Given the description of an element on the screen output the (x, y) to click on. 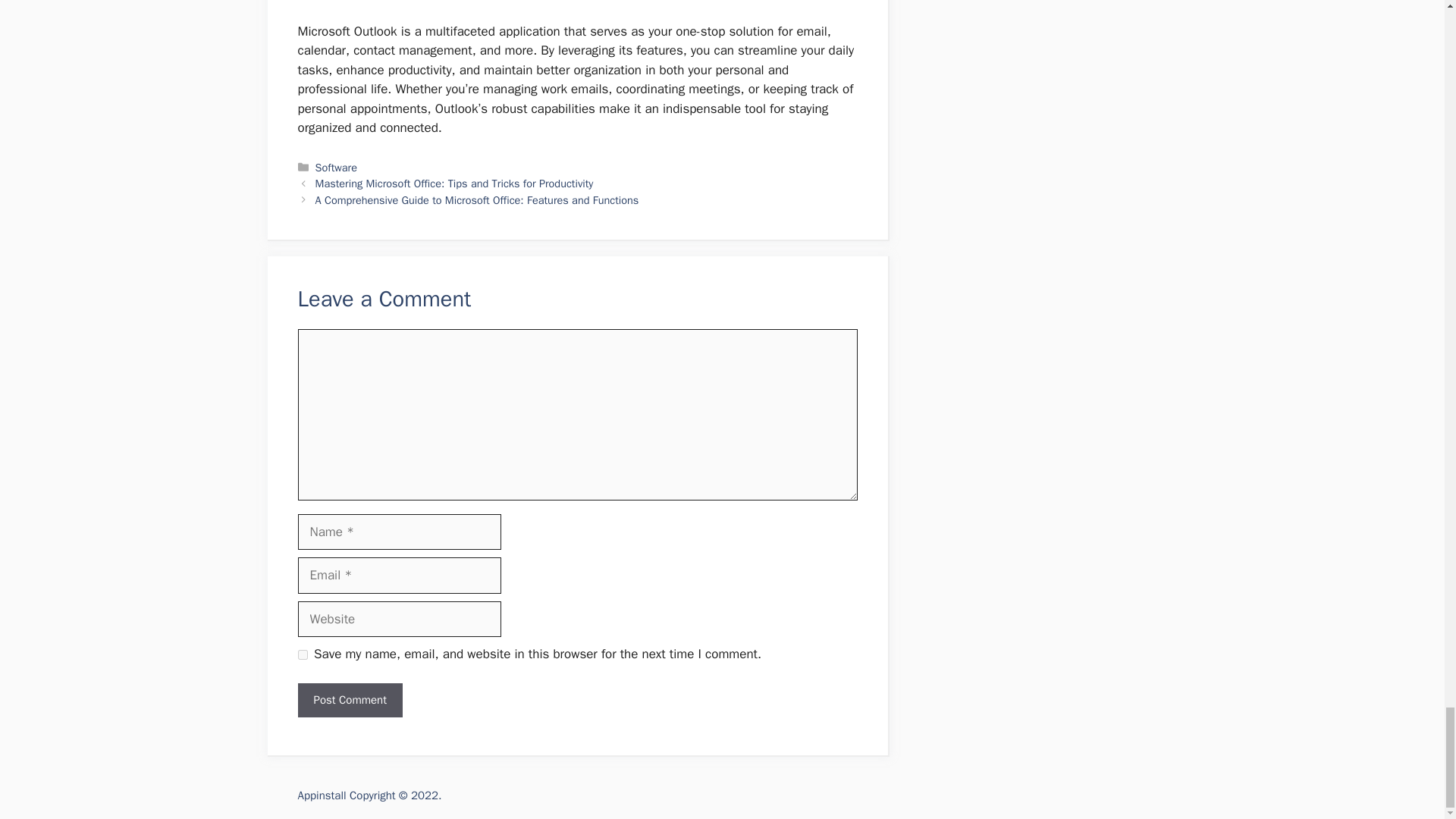
Post Comment (349, 700)
yes (302, 655)
Mastering Microsoft Office: Tips and Tricks for Productivity (454, 183)
Post Comment (349, 700)
Software (335, 167)
